Given the description of an element on the screen output the (x, y) to click on. 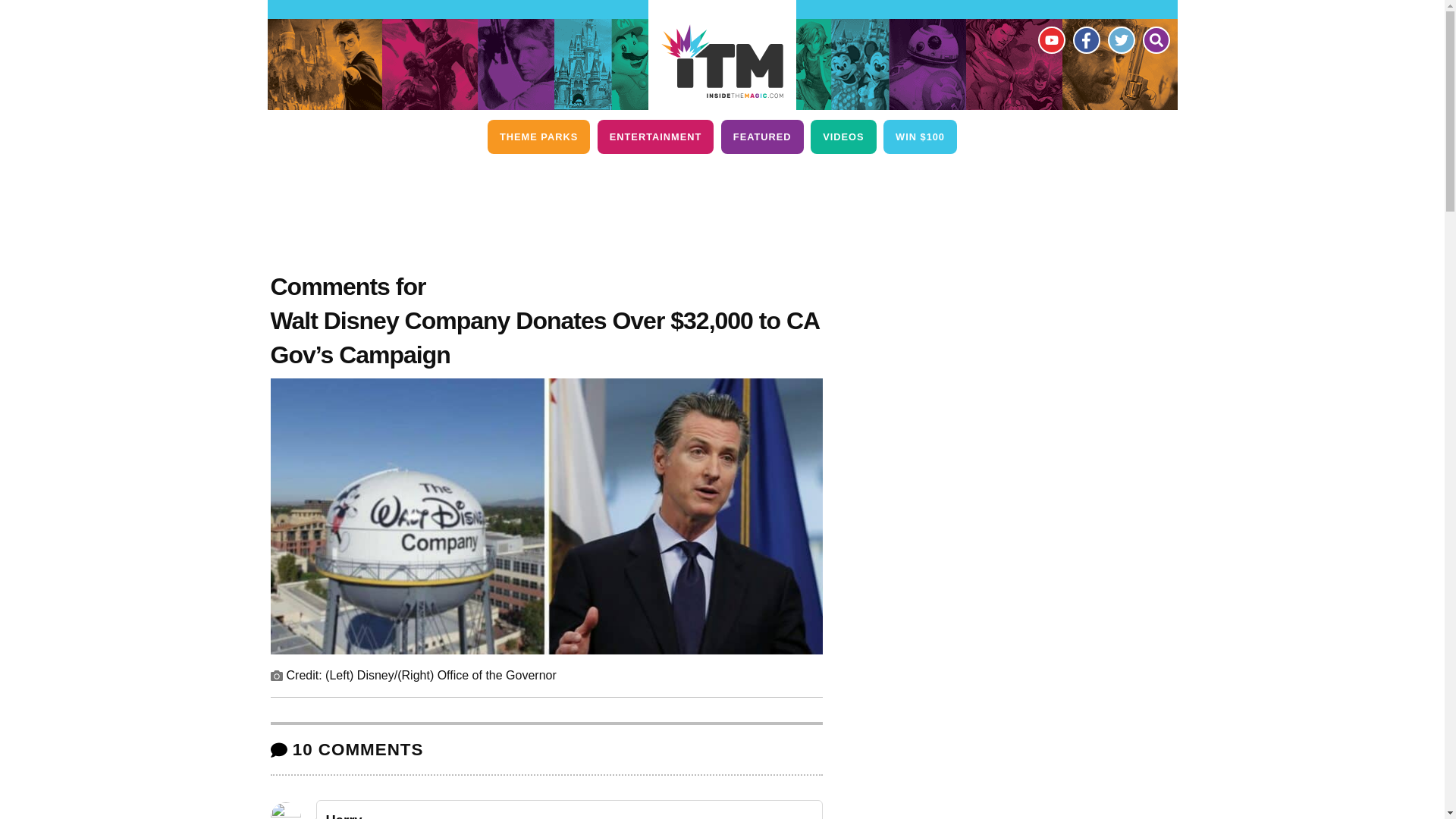
ENTERTAINMENT (655, 136)
FEATURED (761, 136)
YouTube (1050, 40)
Facebook (1085, 40)
Search (1155, 40)
Twitter (1120, 40)
THEME PARKS (538, 136)
